Given the description of an element on the screen output the (x, y) to click on. 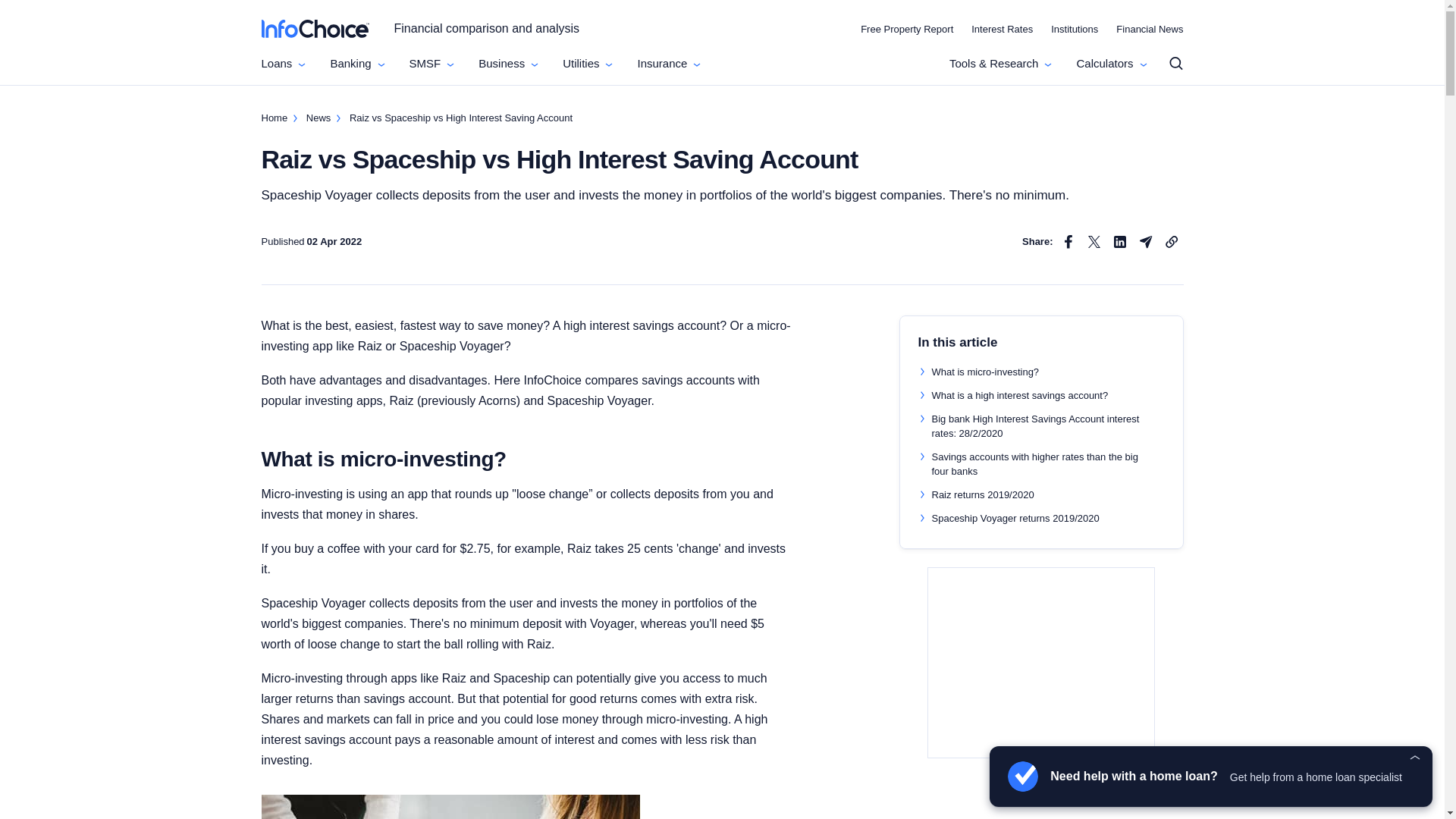
Share on Facebook (1067, 241)
Share via Email (1144, 241)
Share on Twitter (1093, 241)
3rd party ad content (1041, 662)
Copy Link (1170, 241)
Share on LinkedIn (1118, 241)
